Given the description of an element on the screen output the (x, y) to click on. 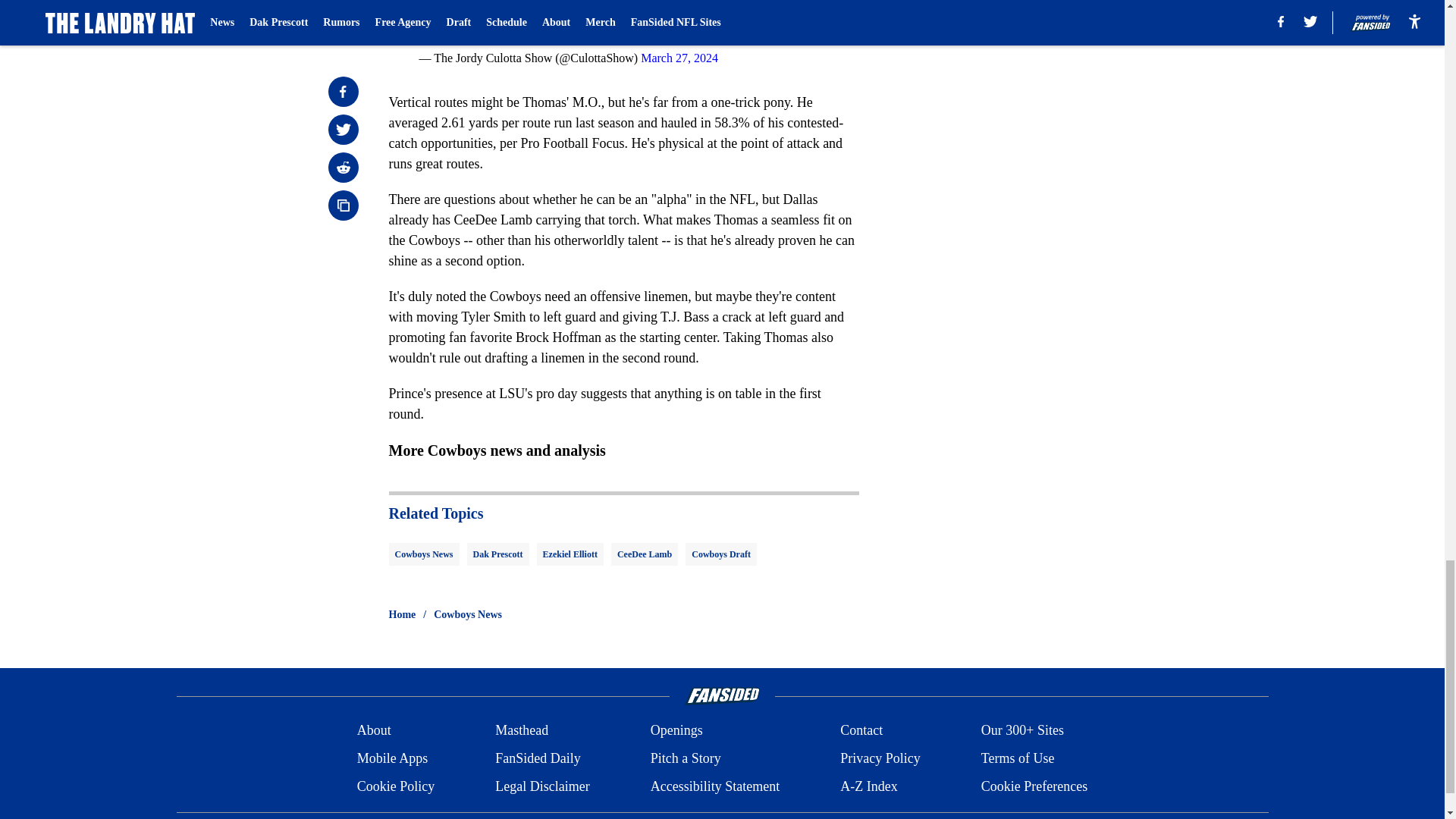
Masthead (521, 730)
Openings (676, 730)
Home (401, 614)
CeeDee Lamb (644, 553)
Ezekiel Elliott (570, 553)
About (373, 730)
Cowboys News (423, 553)
Cowboys News (467, 614)
Cowboys Draft (721, 553)
Dak Prescott (498, 553)
March 27, 2024 (678, 57)
